Given the description of an element on the screen output the (x, y) to click on. 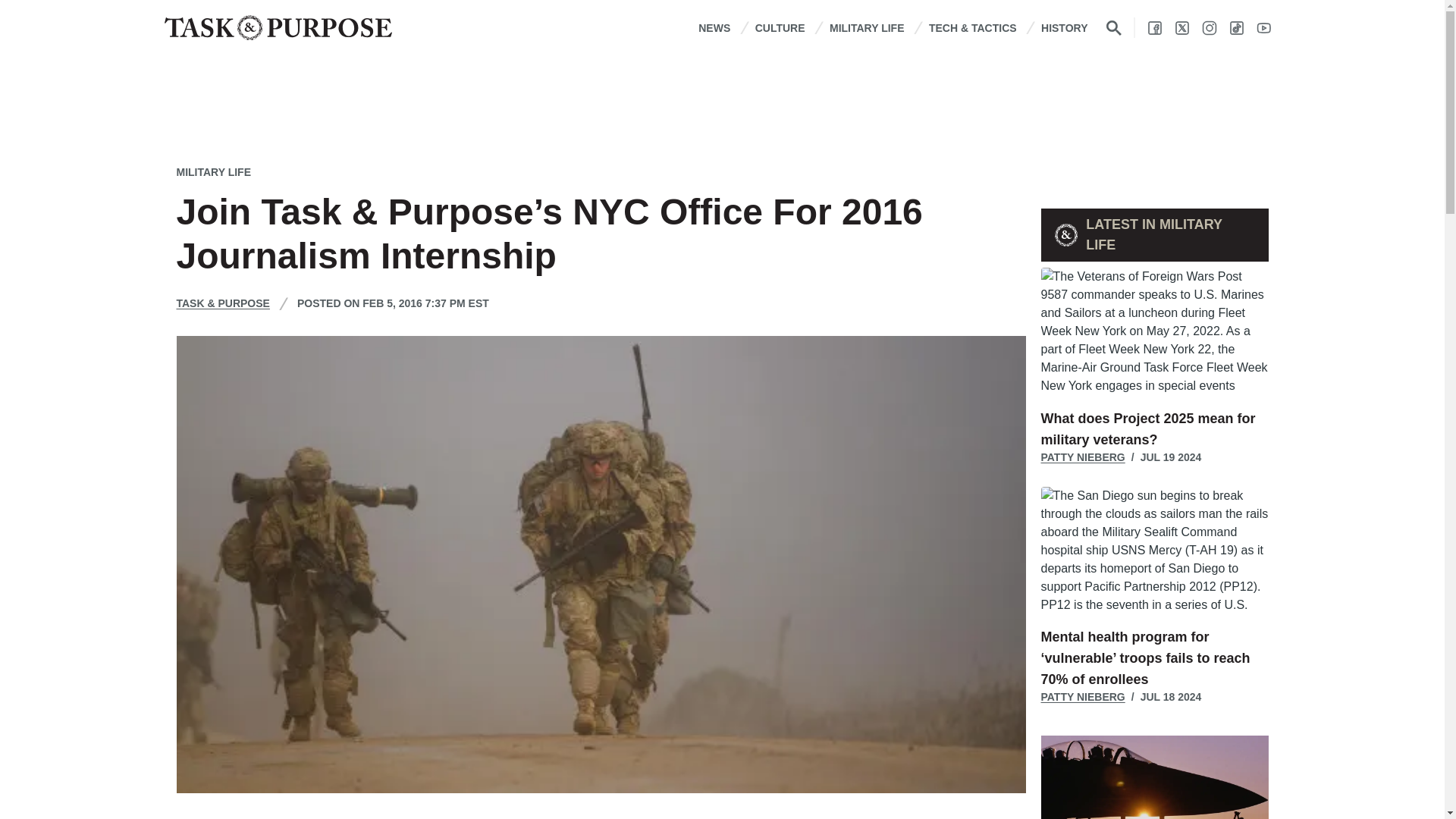
MILITARY LIFE (866, 27)
CULTURE (780, 27)
NEWS (714, 27)
